Given the description of an element on the screen output the (x, y) to click on. 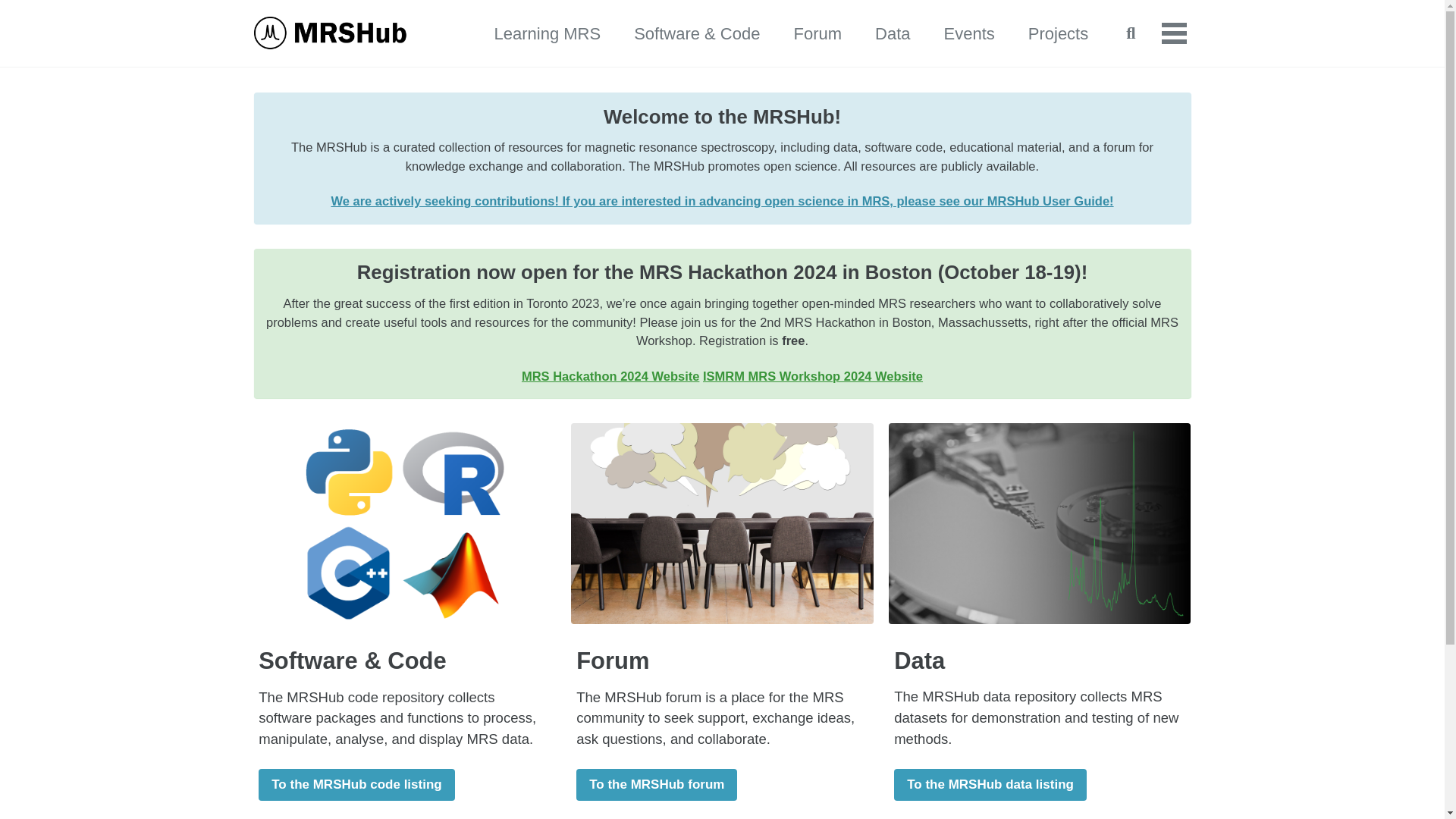
Events (968, 33)
Learning MRS (548, 33)
Projects (1057, 33)
Forum (817, 33)
To the MRSHub data listing (989, 785)
The MRSHub software and code repository (696, 33)
The MRSHub educational material repository (548, 33)
The MRSHub software and code repository (892, 33)
